Given the description of an element on the screen output the (x, y) to click on. 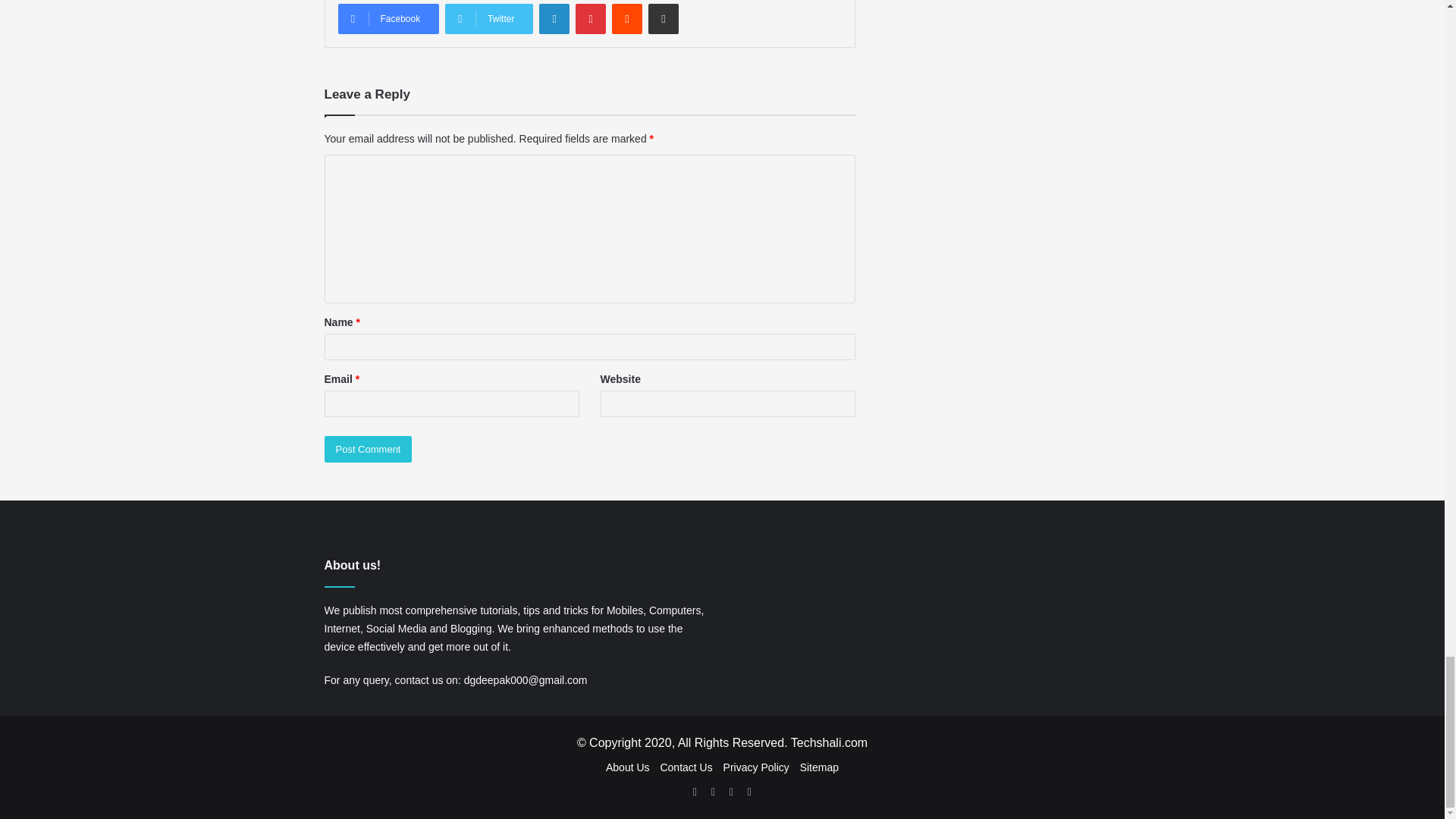
LinkedIn (553, 19)
Facebook (388, 19)
LinkedIn (553, 19)
Facebook (388, 19)
Share via Email (662, 19)
Share via Email (662, 19)
Pinterest (590, 19)
Twitter (488, 19)
Post Comment (368, 448)
Pinterest (590, 19)
Reddit (626, 19)
Twitter (488, 19)
Post Comment (368, 448)
Reddit (626, 19)
